Given the description of an element on the screen output the (x, y) to click on. 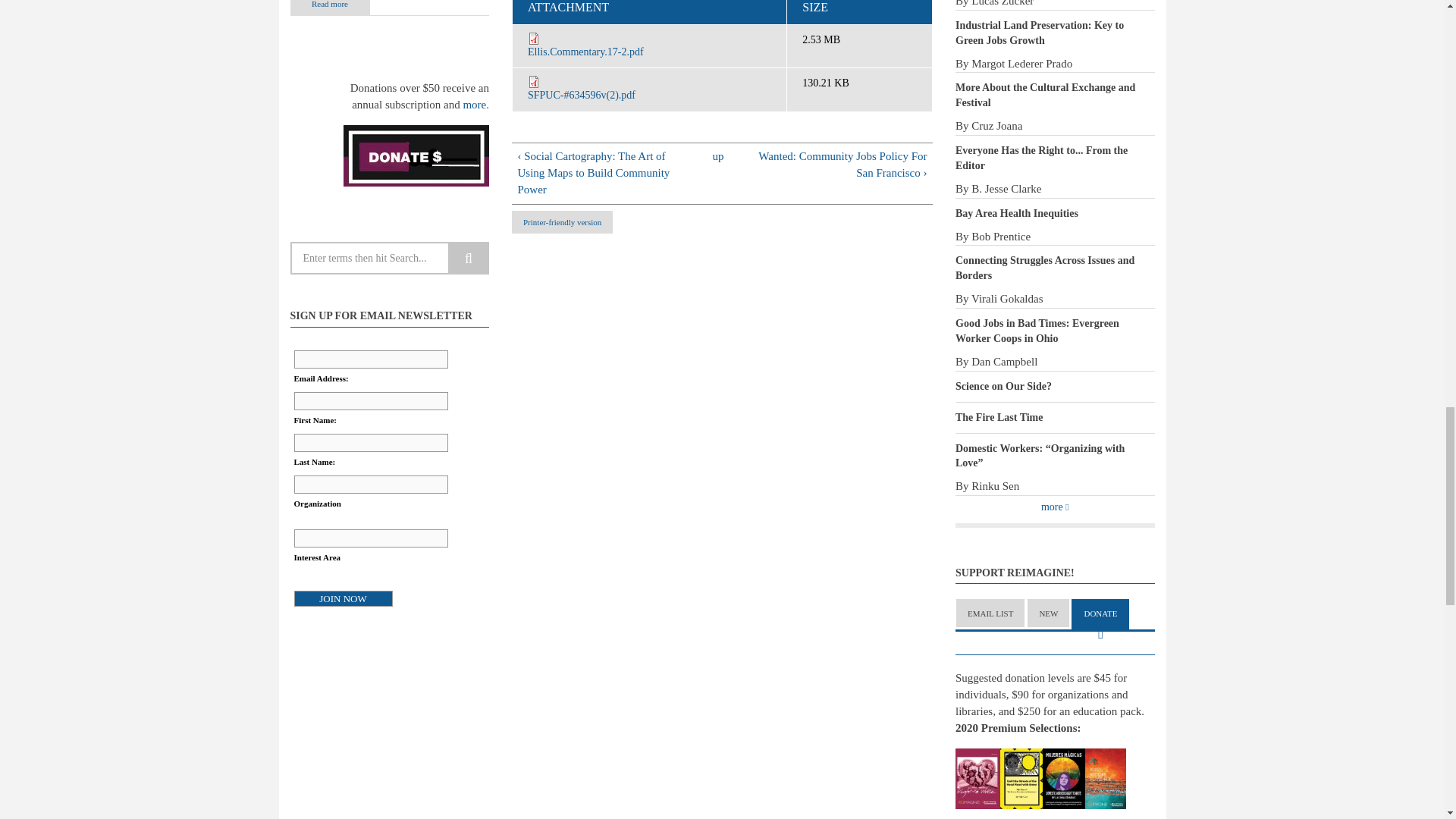
Join Now (343, 598)
Enter terms then hit Search... (389, 257)
